Given the description of an element on the screen output the (x, y) to click on. 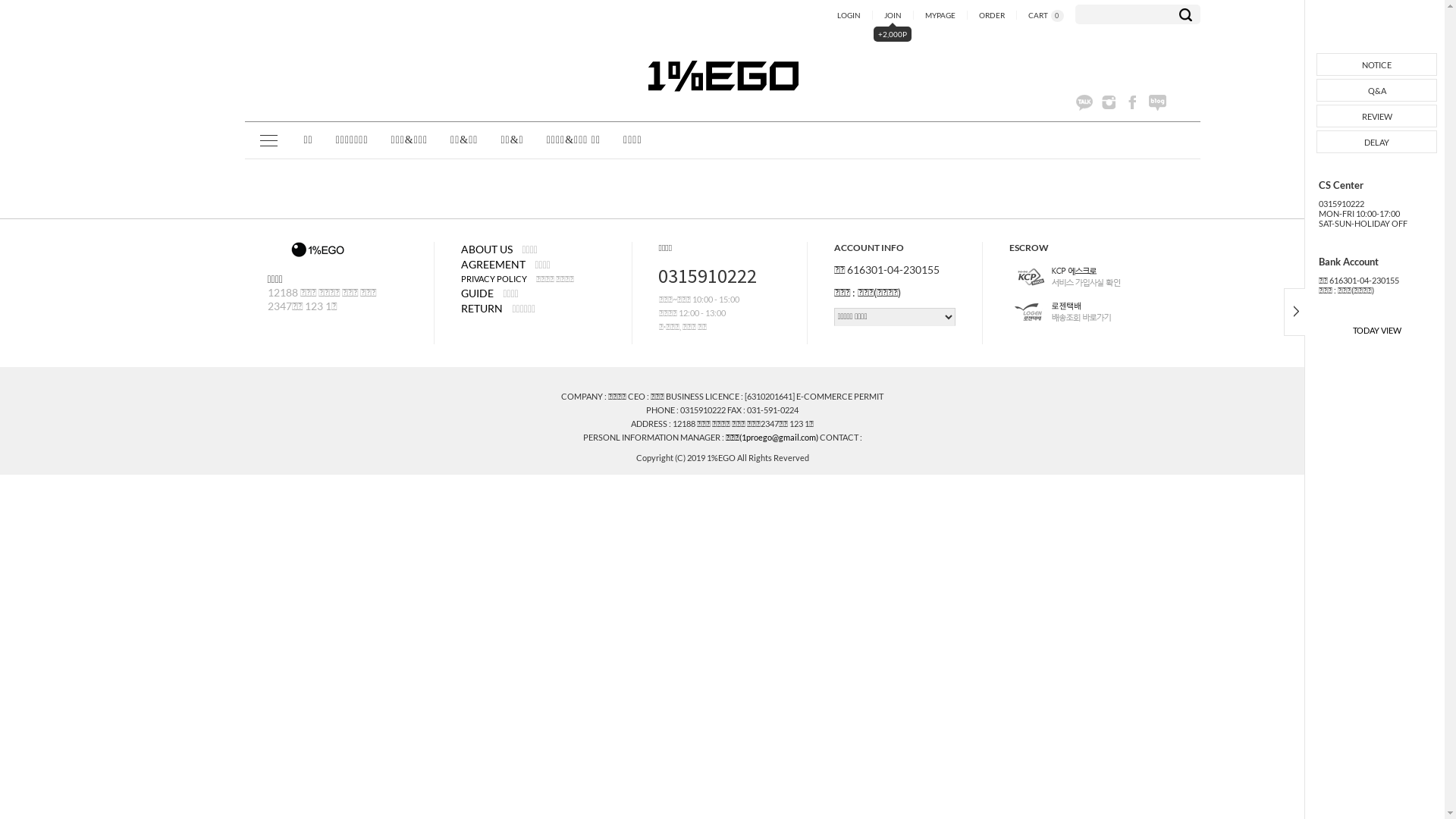
LOGIN Element type: text (848, 14)
MYPAGE Element type: text (939, 14)
DELAY Element type: text (1376, 142)
JOIN Element type: text (892, 14)
+2,000P Element type: text (892, 35)
TODAY VIEW Element type: text (1376, 330)
REVIEW Element type: text (1376, 116)
NOTICE Element type: text (1376, 64)
ORDER Element type: text (991, 14)
CART0 Element type: text (1045, 14)
Q&A Element type: text (1376, 90)
